Given the description of an element on the screen output the (x, y) to click on. 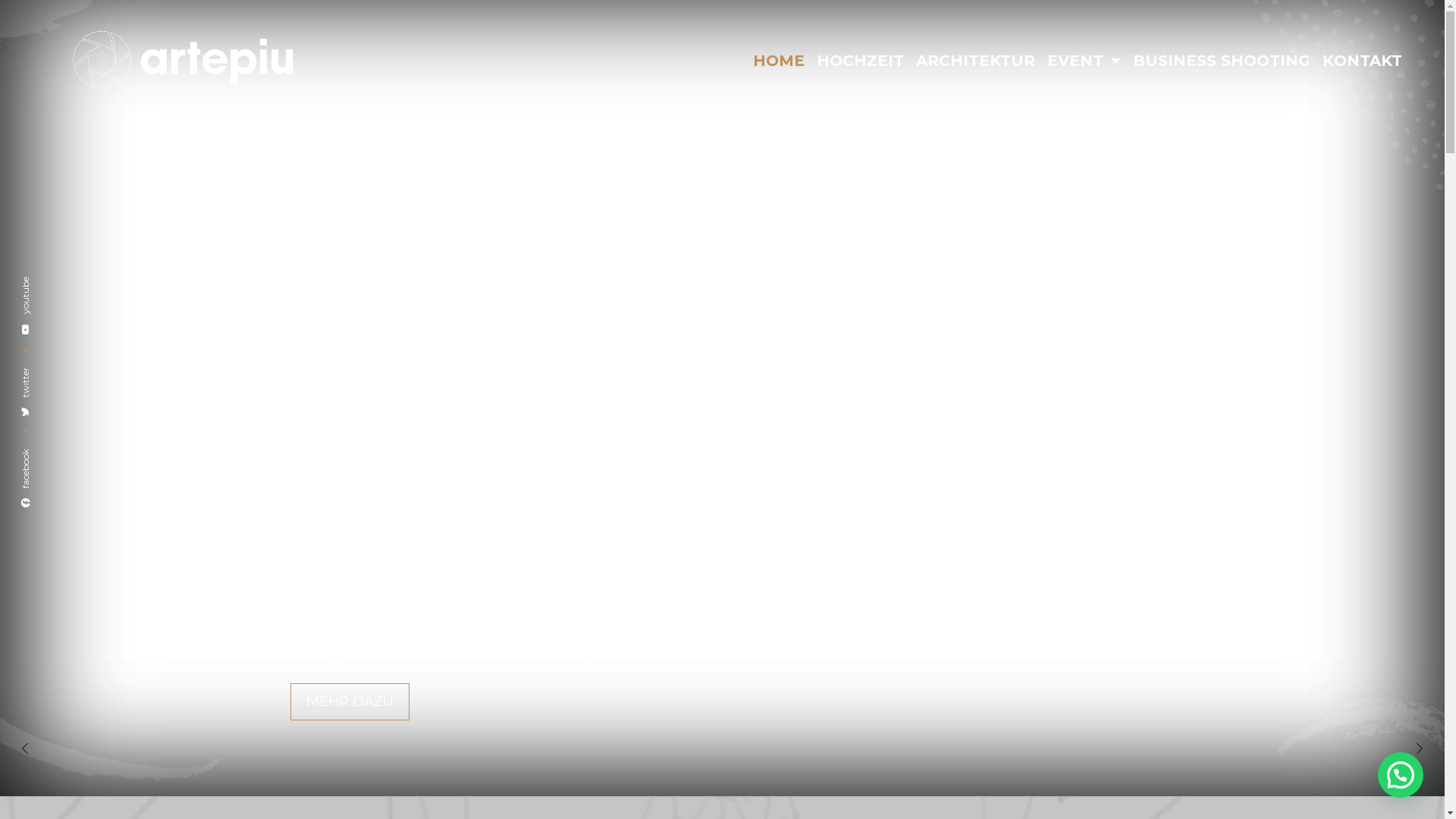
HOME Element type: text (778, 60)
facebook Element type: text (47, 455)
HOCHZEIT Element type: text (860, 60)
BUSINESS SHOOTING Element type: text (1221, 60)
KONTAKT Element type: text (1362, 60)
twitter Element type: text (43, 373)
MEHR DAZU Element type: text (348, 701)
ARCHITEKTUR Element type: text (975, 60)
youtube Element type: text (47, 283)
EVENT Element type: text (1083, 60)
